Given the description of an element on the screen output the (x, y) to click on. 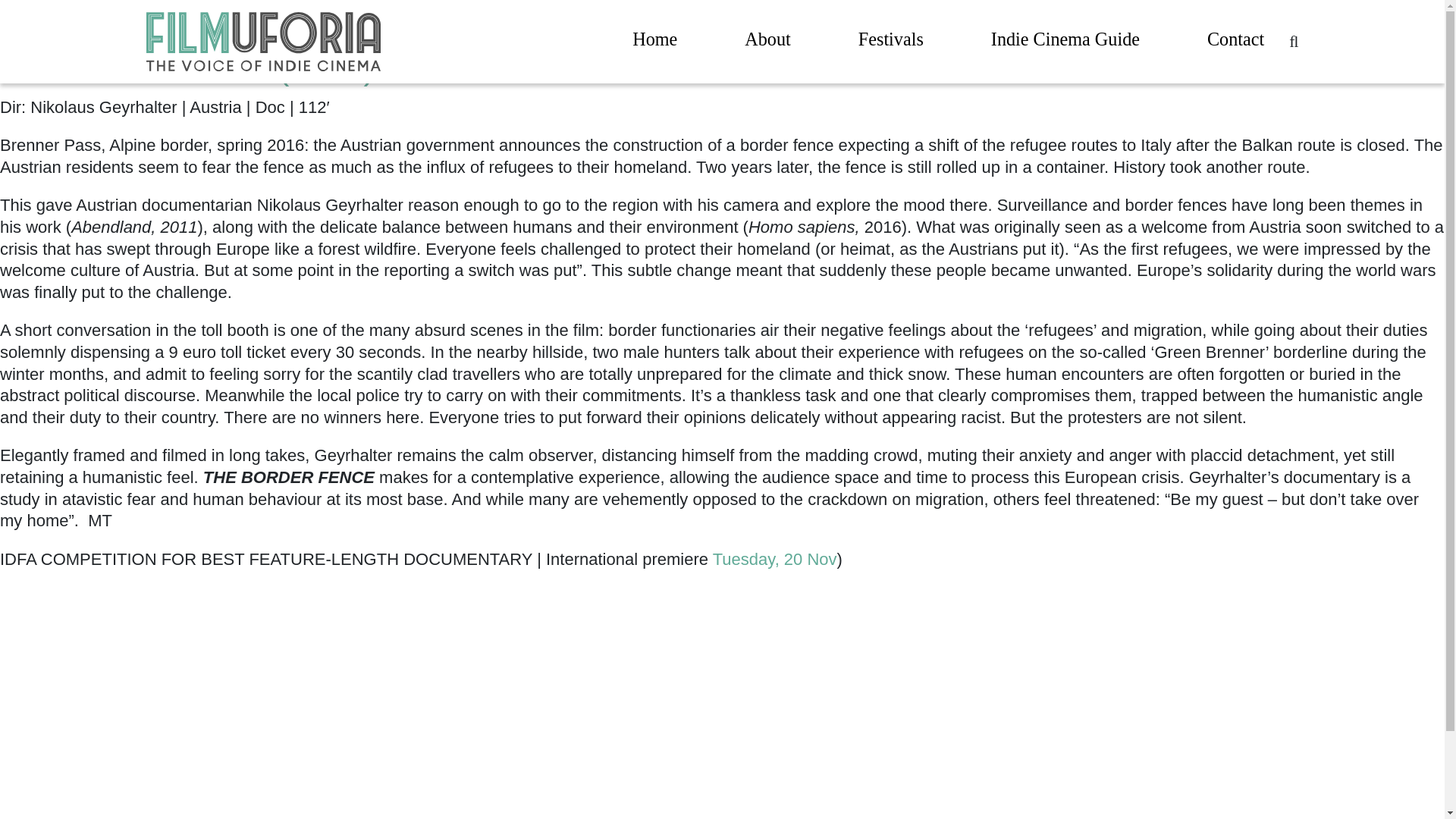
Indie Cinema Guide (1065, 42)
About (767, 42)
Tuesday, 20 Nov (775, 558)
Contact (1235, 42)
Festivals (891, 42)
Home (654, 42)
